Given the description of an element on the screen output the (x, y) to click on. 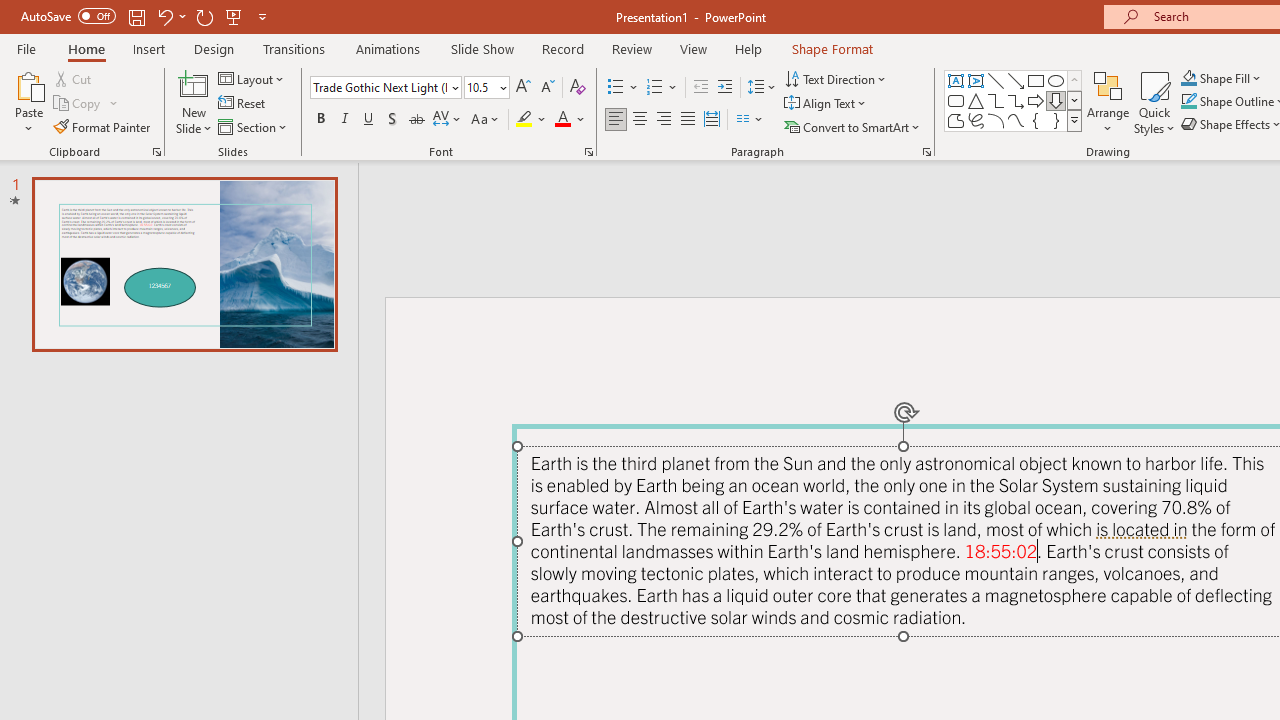
Shape Outline Teal, Accent 1 (1188, 101)
